Given the description of an element on the screen output the (x, y) to click on. 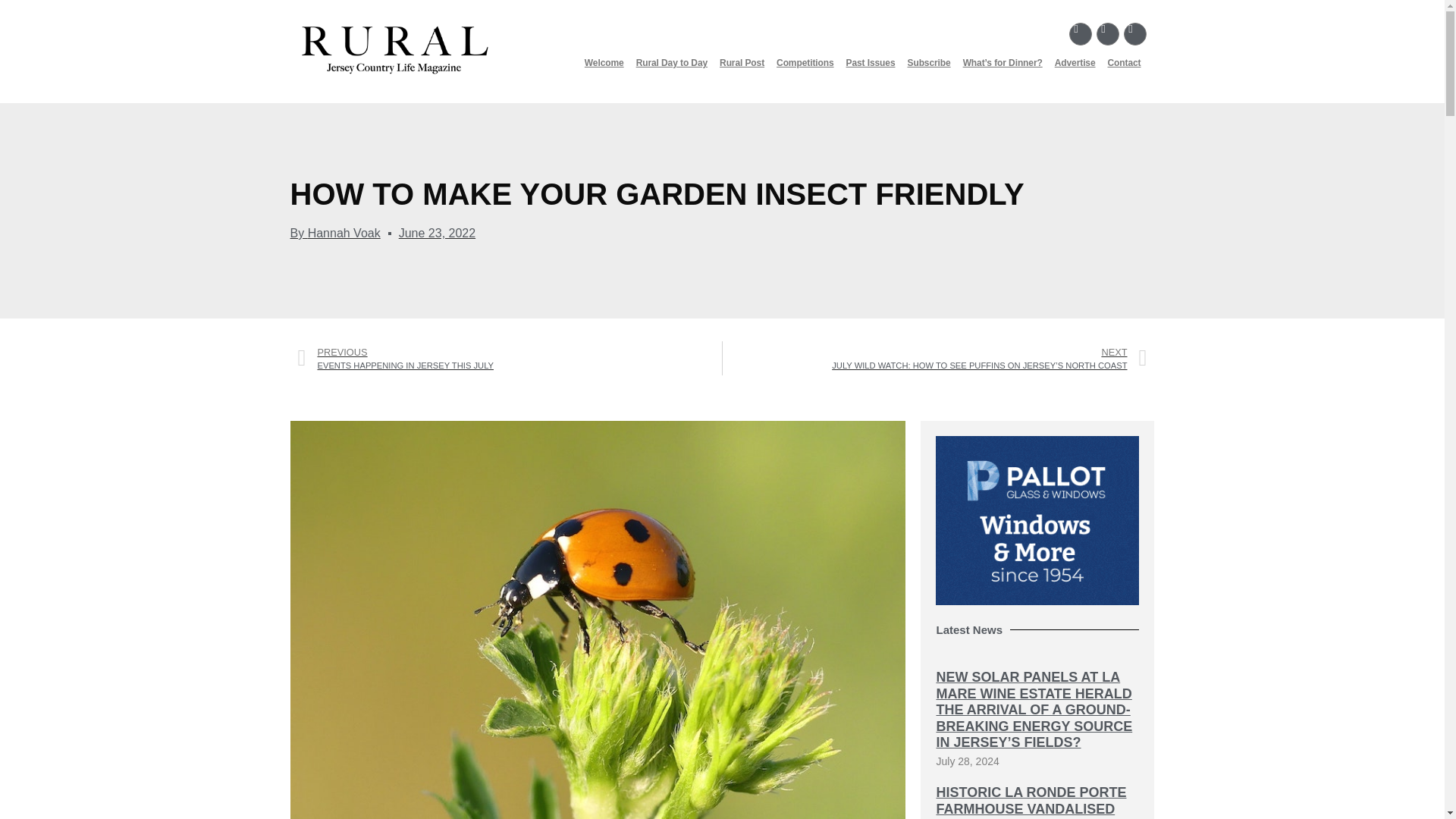
June 23, 2022 (437, 233)
HISTORIC LA RONDE PORTE FARMHOUSE VANDALISED (1030, 800)
Rural Post (741, 62)
Past Issues (870, 62)
Rural Day to Day (671, 62)
By Hannah Voak (334, 233)
Subscribe (928, 62)
Contact (1124, 62)
Competitions (805, 62)
Welcome (604, 62)
